Given the description of an element on the screen output the (x, y) to click on. 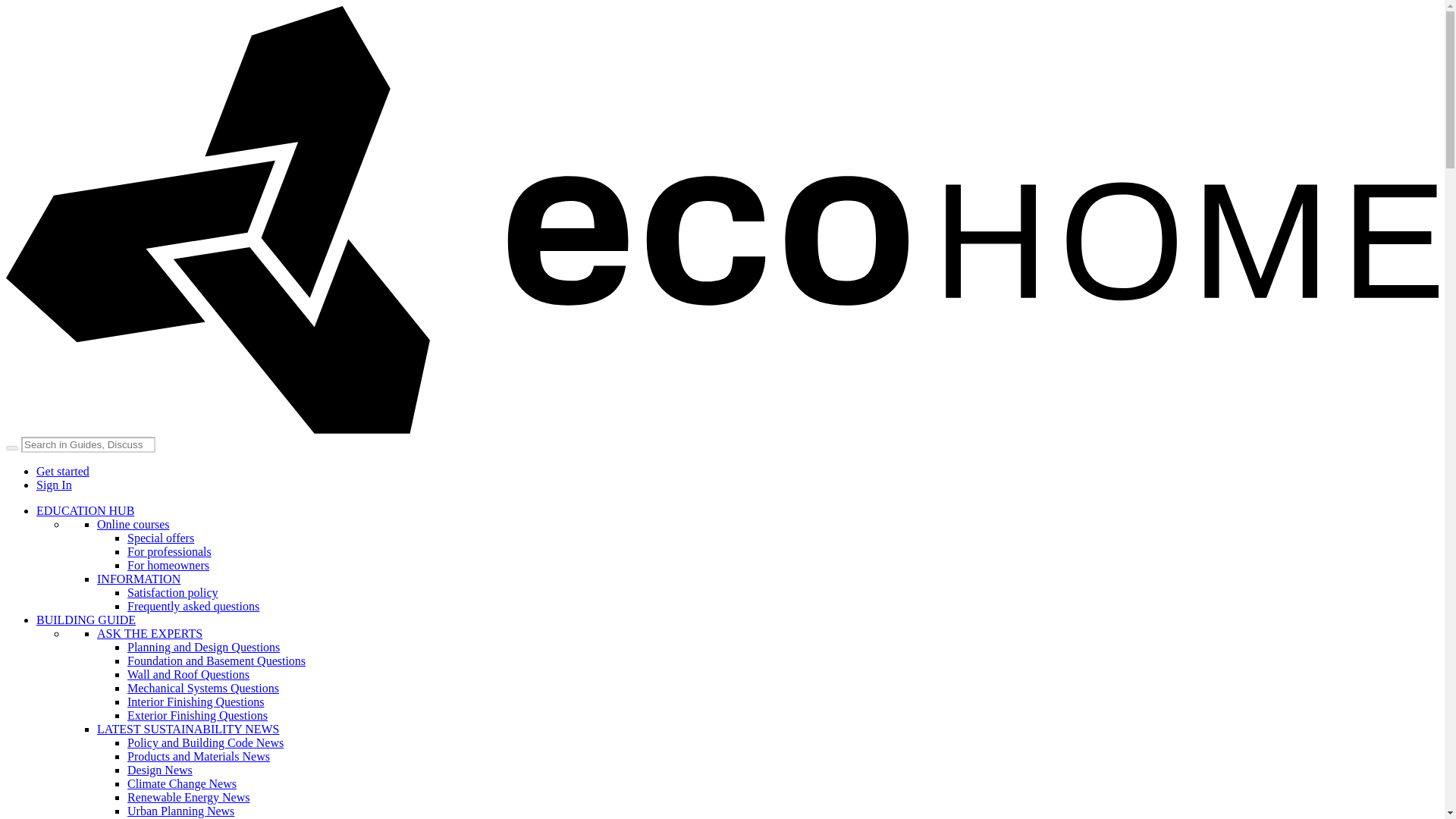
For homeowners (168, 564)
Sign In (53, 484)
ASK THE EXPERTS (149, 633)
Satisfaction policy (173, 592)
INFORMATION (138, 578)
Special offers (160, 537)
Policy and Building Code News (205, 742)
BUILDING GUIDE (85, 619)
Planning and Design Questions (203, 646)
Online courses (133, 523)
Exterior Finishing Questions (197, 715)
Renewable Energy News (188, 797)
LATEST SUSTAINABILITY NEWS (188, 728)
Urban Planning News (181, 810)
